Given the description of an element on the screen output the (x, y) to click on. 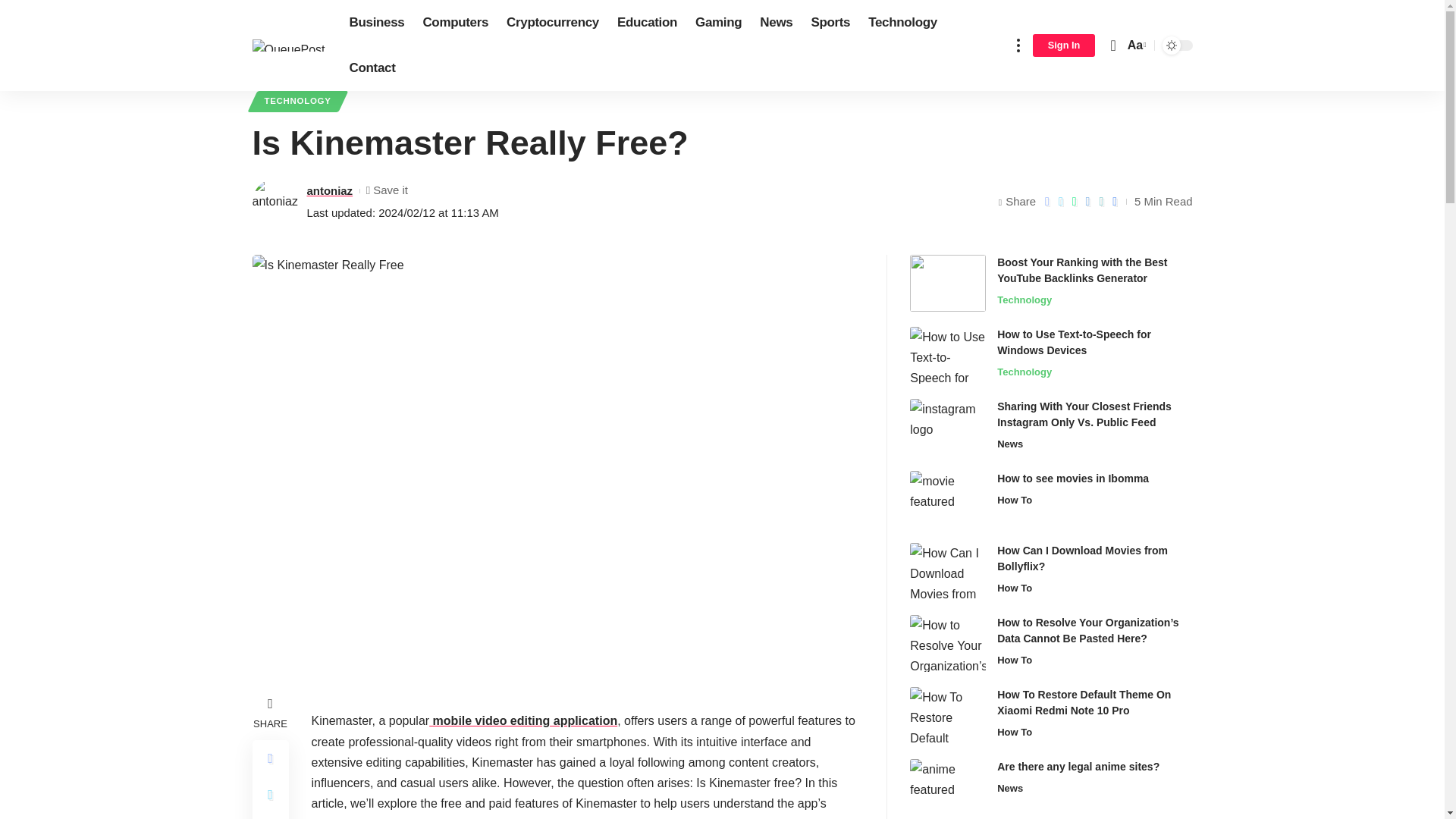
Sign In (1064, 45)
Business (376, 22)
Cryptocurrency (552, 22)
Education (646, 22)
Go to the Technology Category archives. (376, 67)
Contact (372, 67)
Go to QueuePost. (277, 67)
Gaming (718, 22)
How To Restore Default Theme On Xiaomi Redmi Note 10 Pro (947, 715)
Computers (455, 22)
Sports (830, 22)
Go to Blog. (326, 67)
Aa (1135, 45)
News (776, 22)
